Given the description of an element on the screen output the (x, y) to click on. 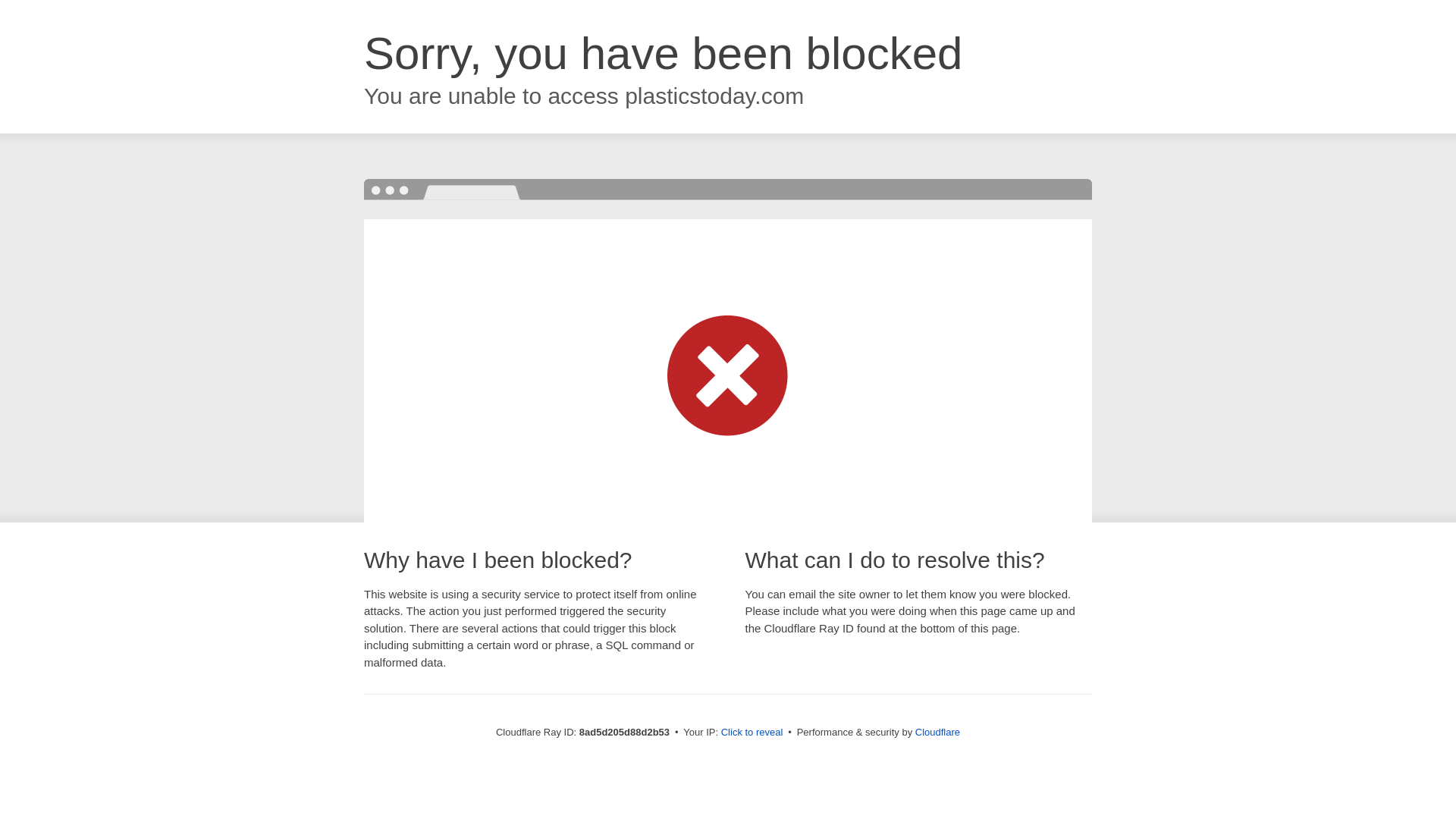
Cloudflare (937, 731)
Click to reveal (751, 732)
